Given the description of an element on the screen output the (x, y) to click on. 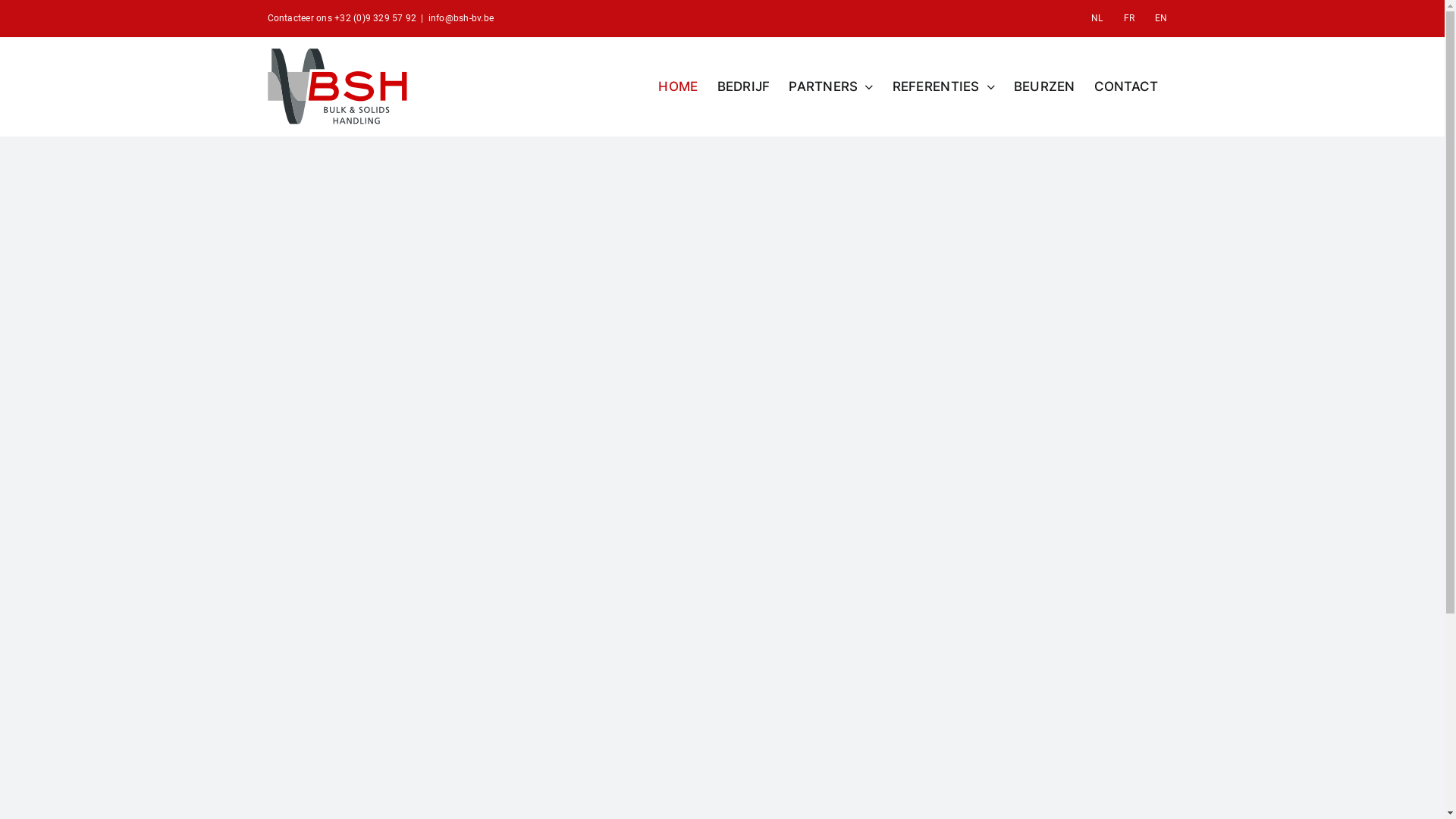
REFERENTIES Element type: text (943, 86)
NL Element type: text (1096, 18)
EN Element type: text (1160, 18)
FR Element type: text (1128, 18)
CONTACT Element type: text (1126, 86)
BEDRIJF Element type: text (743, 86)
info@bsh-bv.be Element type: text (460, 17)
BEURZEN Element type: text (1044, 86)
PARTNERS Element type: text (830, 86)
HOME Element type: text (677, 86)
